Given the description of an element on the screen output the (x, y) to click on. 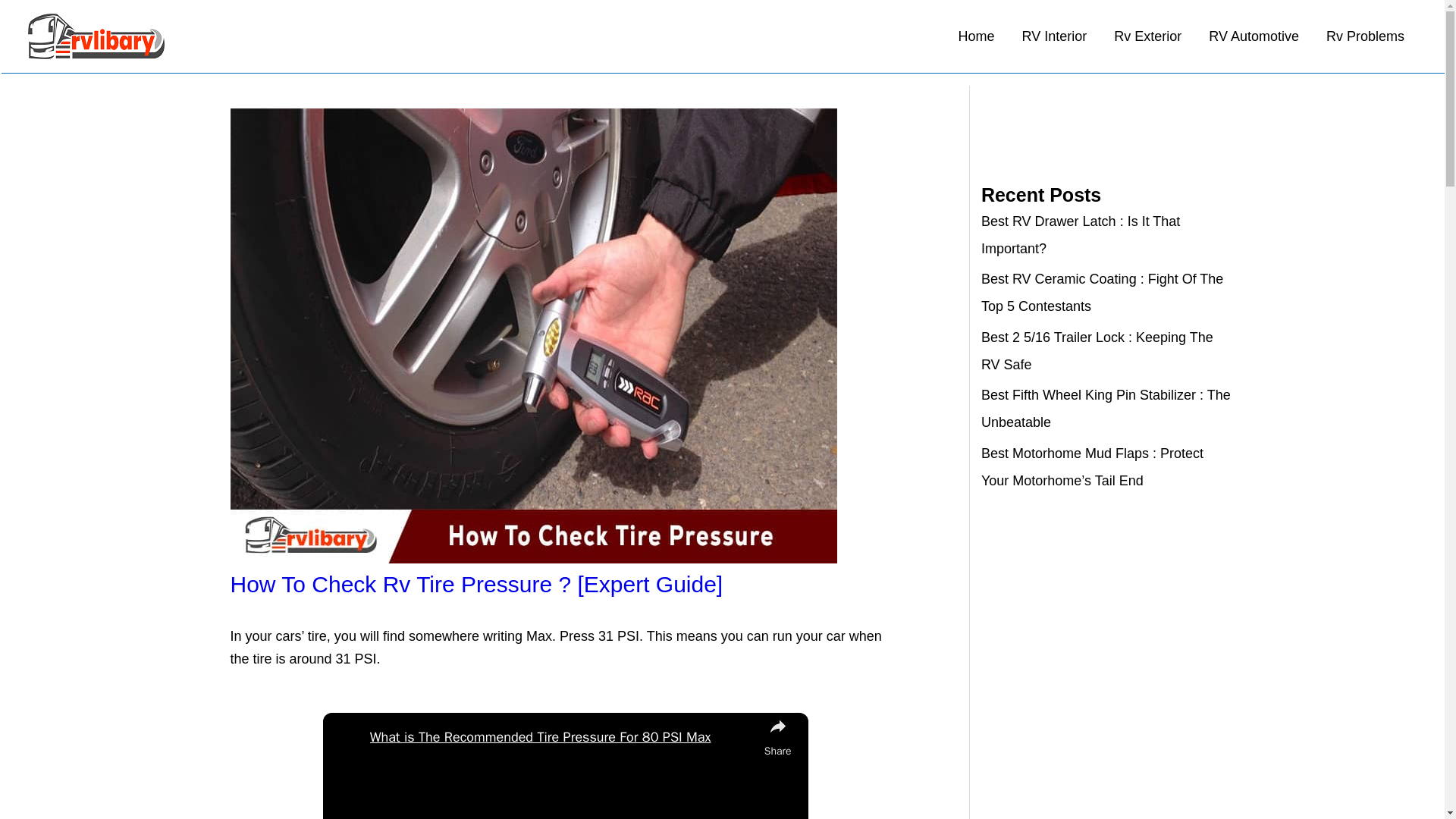
Best RV Ceramic Coating : Fight Of The Top 5 Contestants (1102, 292)
Best RV Drawer Latch : Is It That Important? (1080, 234)
Rv Exterior (1147, 36)
Rv Problems (1365, 36)
RV Interior (1054, 36)
Best Fifth Wheel King Pin Stabilizer : The Unbeatable (1105, 408)
Home (976, 36)
What is The Recommended Tire Pressure For 80 PSI Max (563, 737)
RV Automotive (1254, 36)
